Given the description of an element on the screen output the (x, y) to click on. 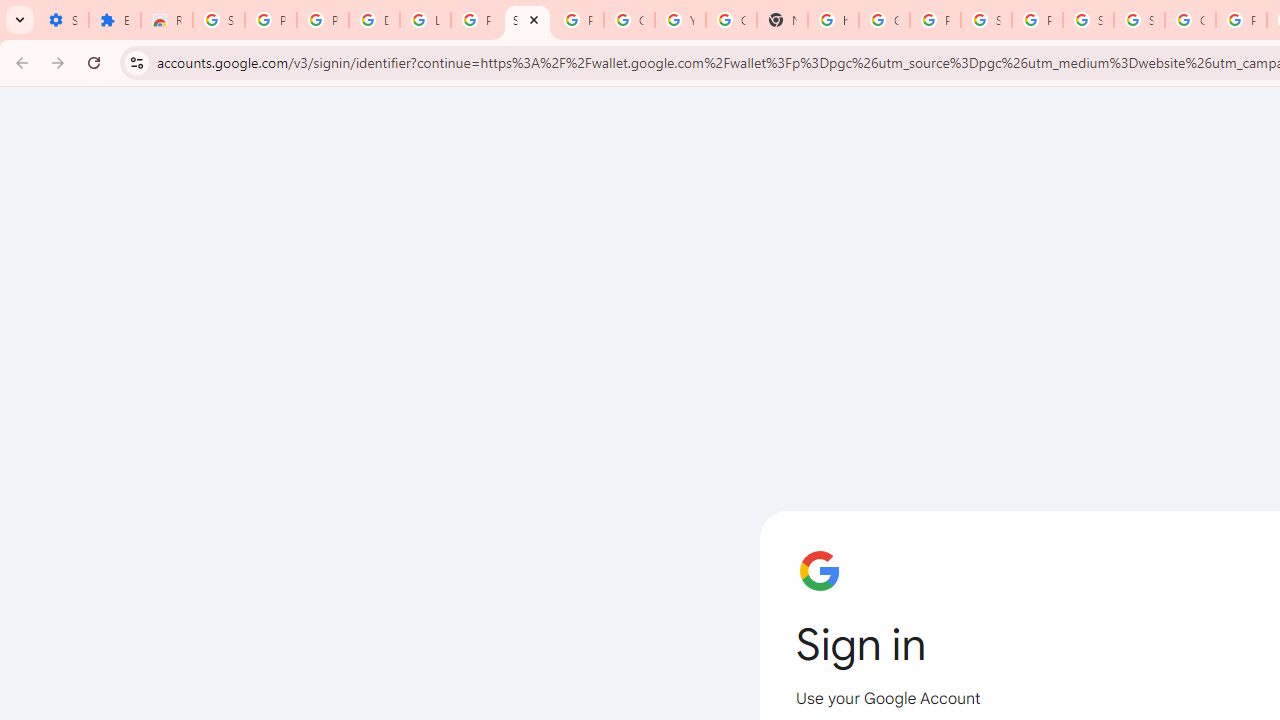
Sign in - Google Accounts (1087, 20)
New Tab (781, 20)
Sign in - Google Accounts (986, 20)
YouTube (680, 20)
Privacy Help Center - Policies Help (1241, 20)
Delete photos & videos - Computer - Google Photos Help (374, 20)
Google Account (629, 20)
Sign in - Google Accounts (218, 20)
